Given the description of an element on the screen output the (x, y) to click on. 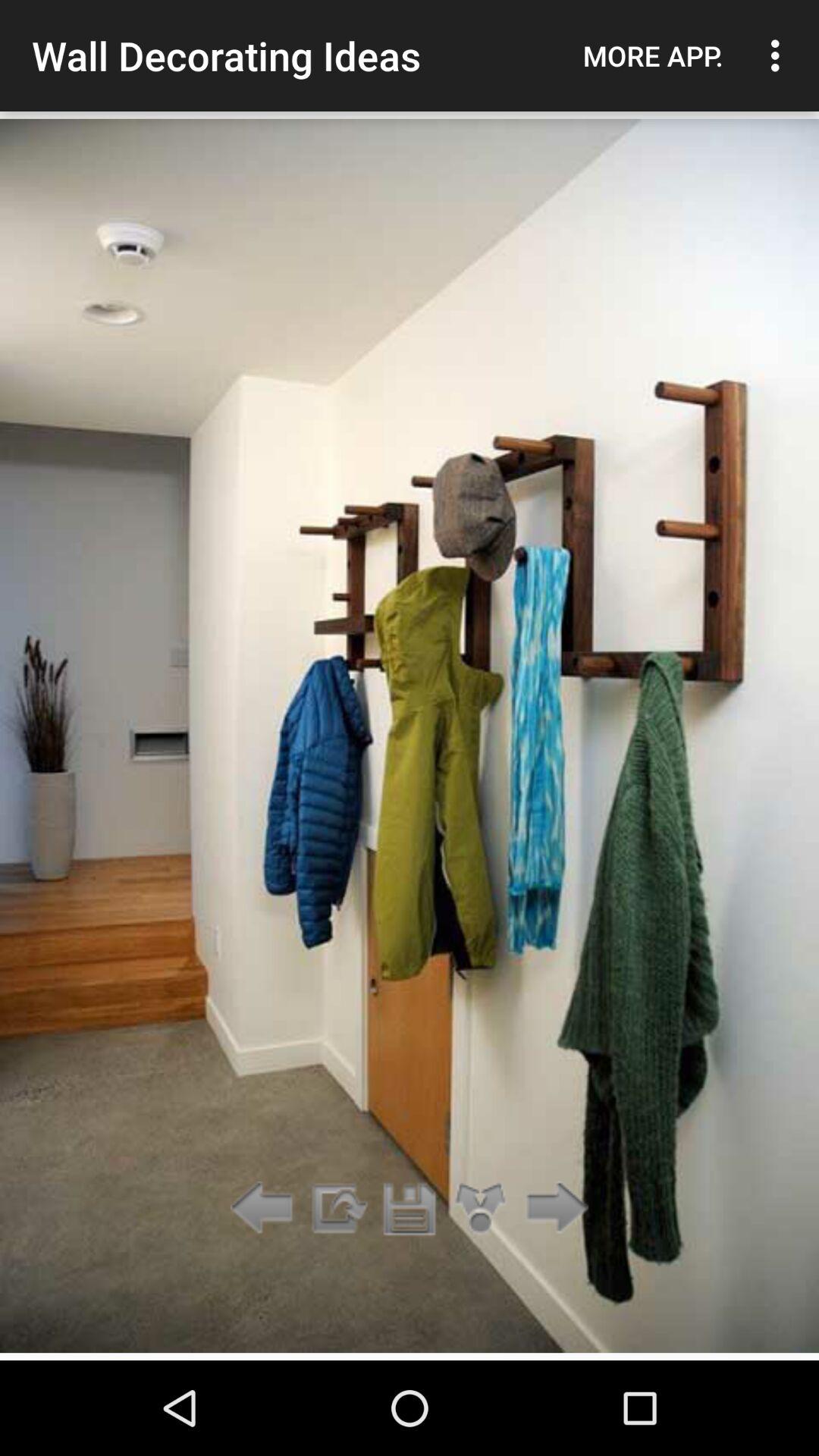
open the icon below the more app. icon (552, 1209)
